Given the description of an element on the screen output the (x, y) to click on. 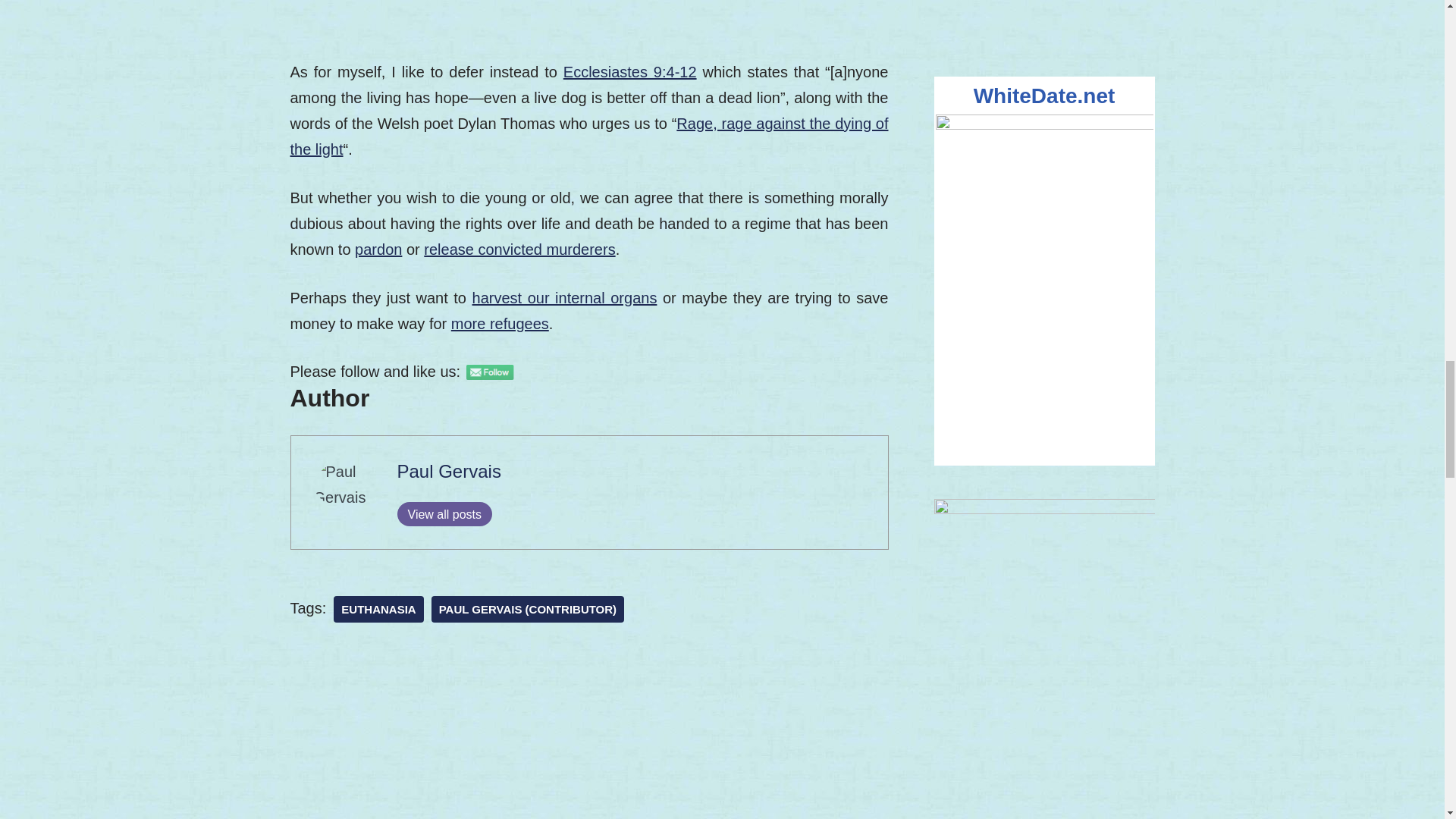
harvest our internal organs (564, 297)
pardon (378, 248)
Paul Gervais (448, 471)
euthanasia (378, 609)
Ecclesiastes 9:4-12 (630, 71)
Rage, rage against the dying of the light (588, 136)
release convicted murderers (518, 248)
View all posts (445, 514)
